Given the description of an element on the screen output the (x, y) to click on. 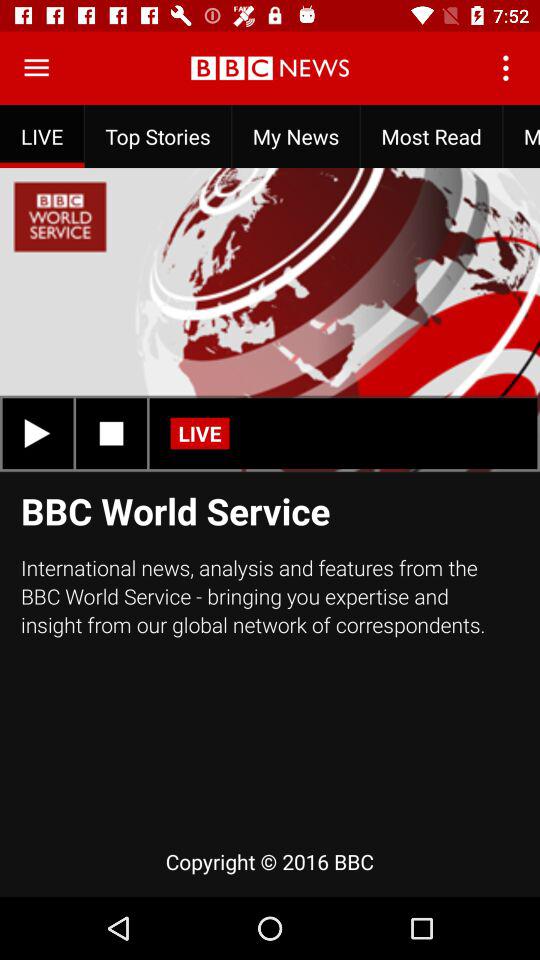
drop down menu items (36, 68)
